Given the description of an element on the screen output the (x, y) to click on. 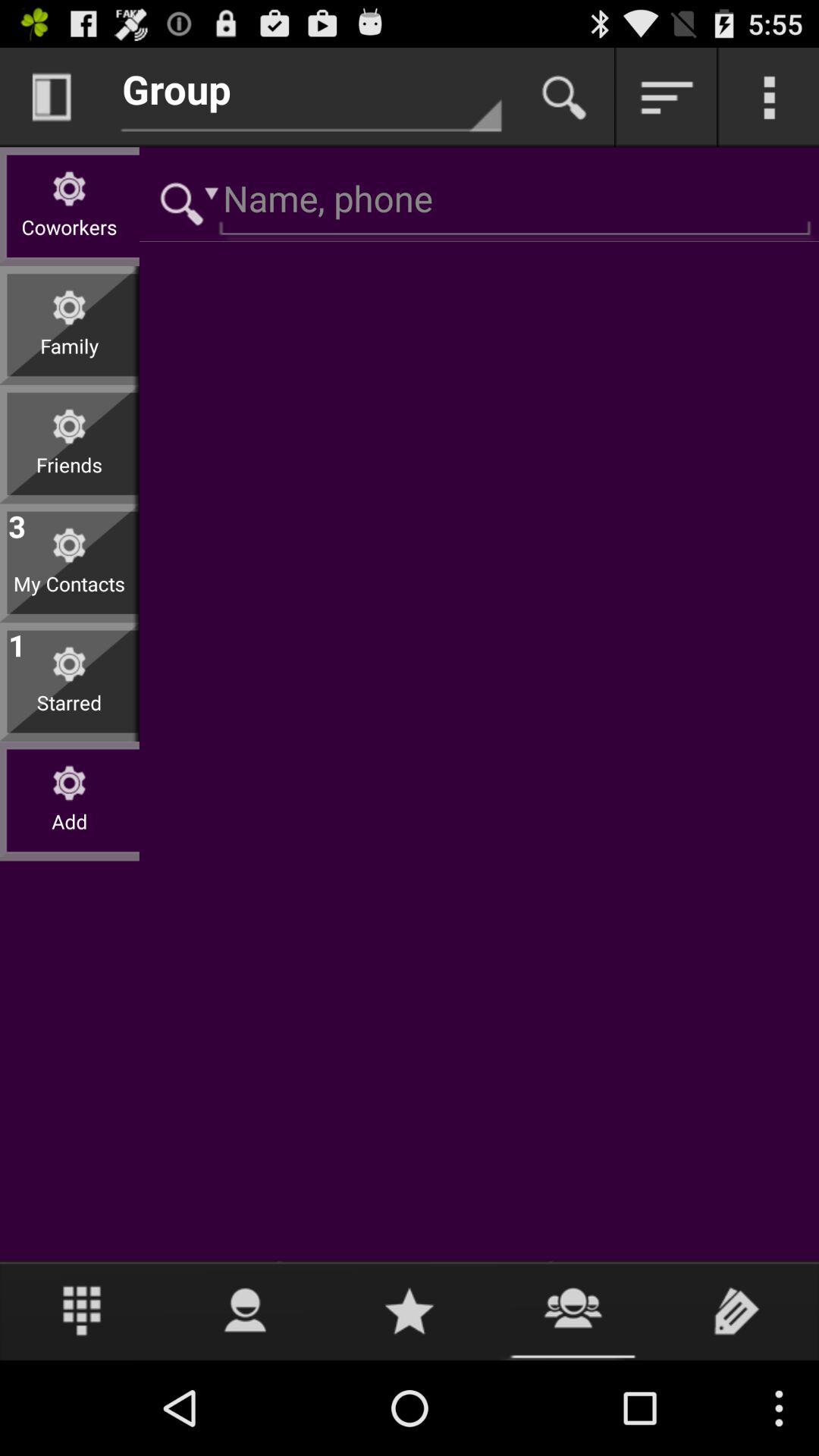
click friends icon (69, 476)
